Given the description of an element on the screen output the (x, y) to click on. 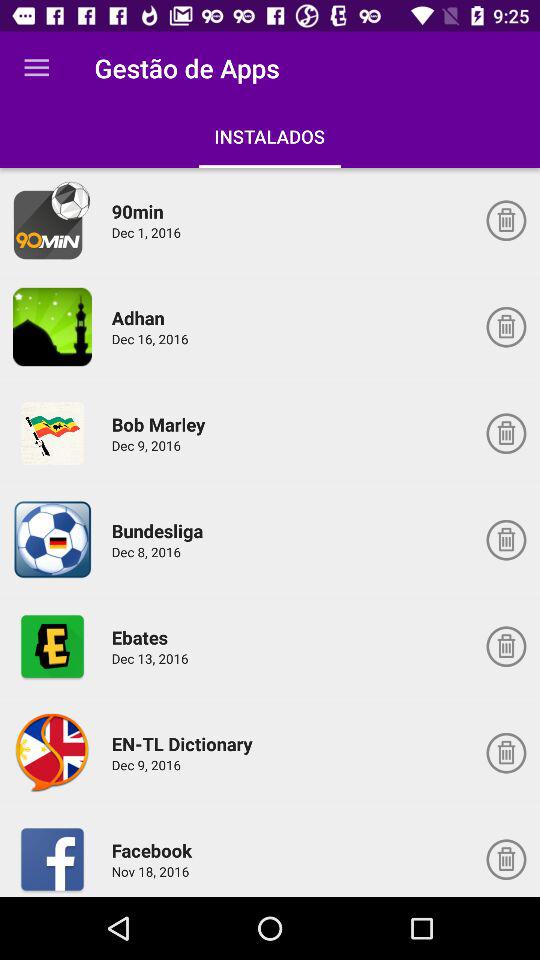
delete app (505, 540)
